Given the description of an element on the screen output the (x, y) to click on. 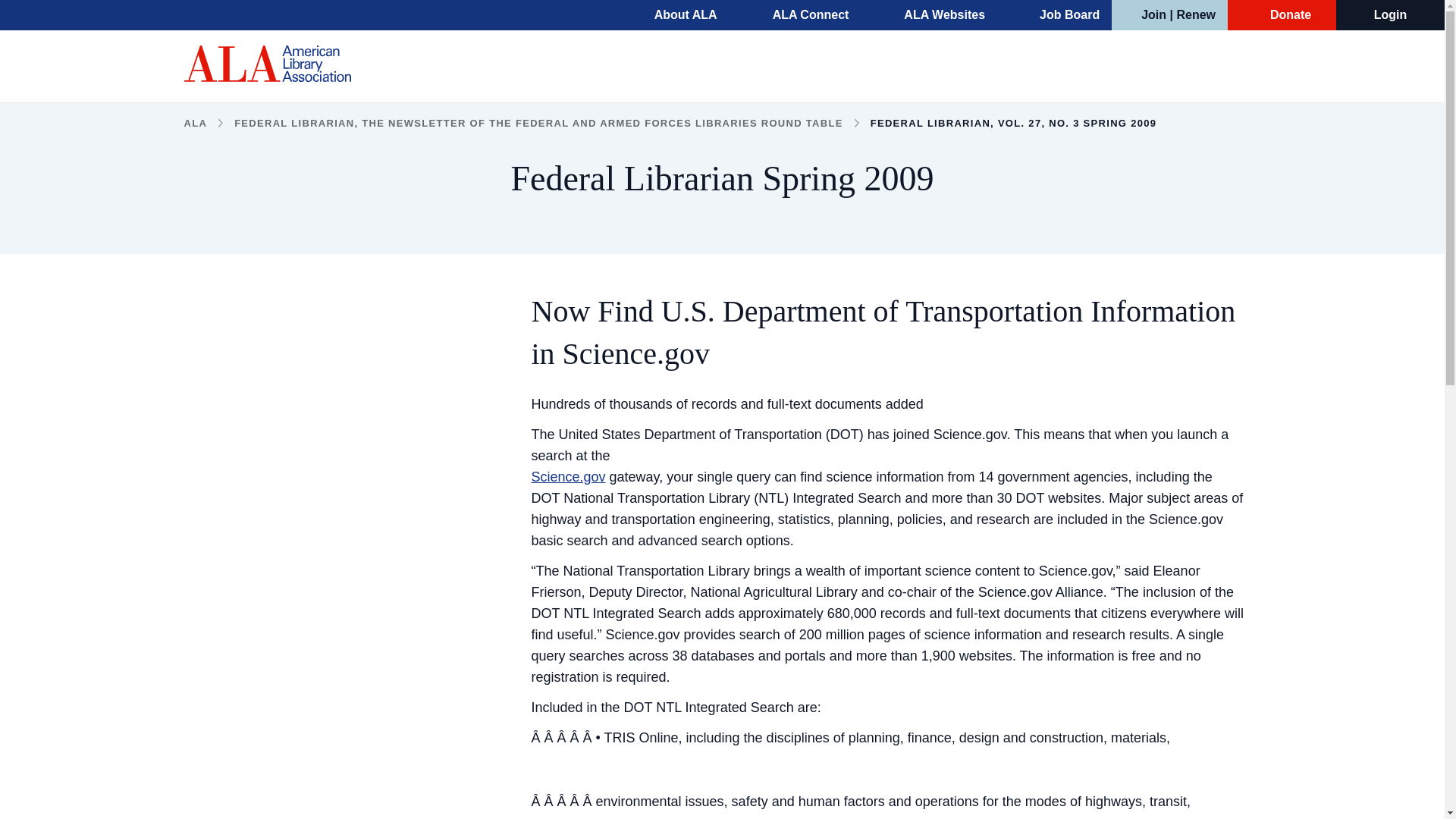
ALA Websites (934, 15)
About ALA (675, 15)
ALA Connect (801, 15)
Login (1390, 15)
Login (1390, 15)
Donate (1281, 15)
About ALA (675, 15)
ALA Connect (801, 15)
Job Board (1060, 15)
Donate (1281, 15)
